Given the description of an element on the screen output the (x, y) to click on. 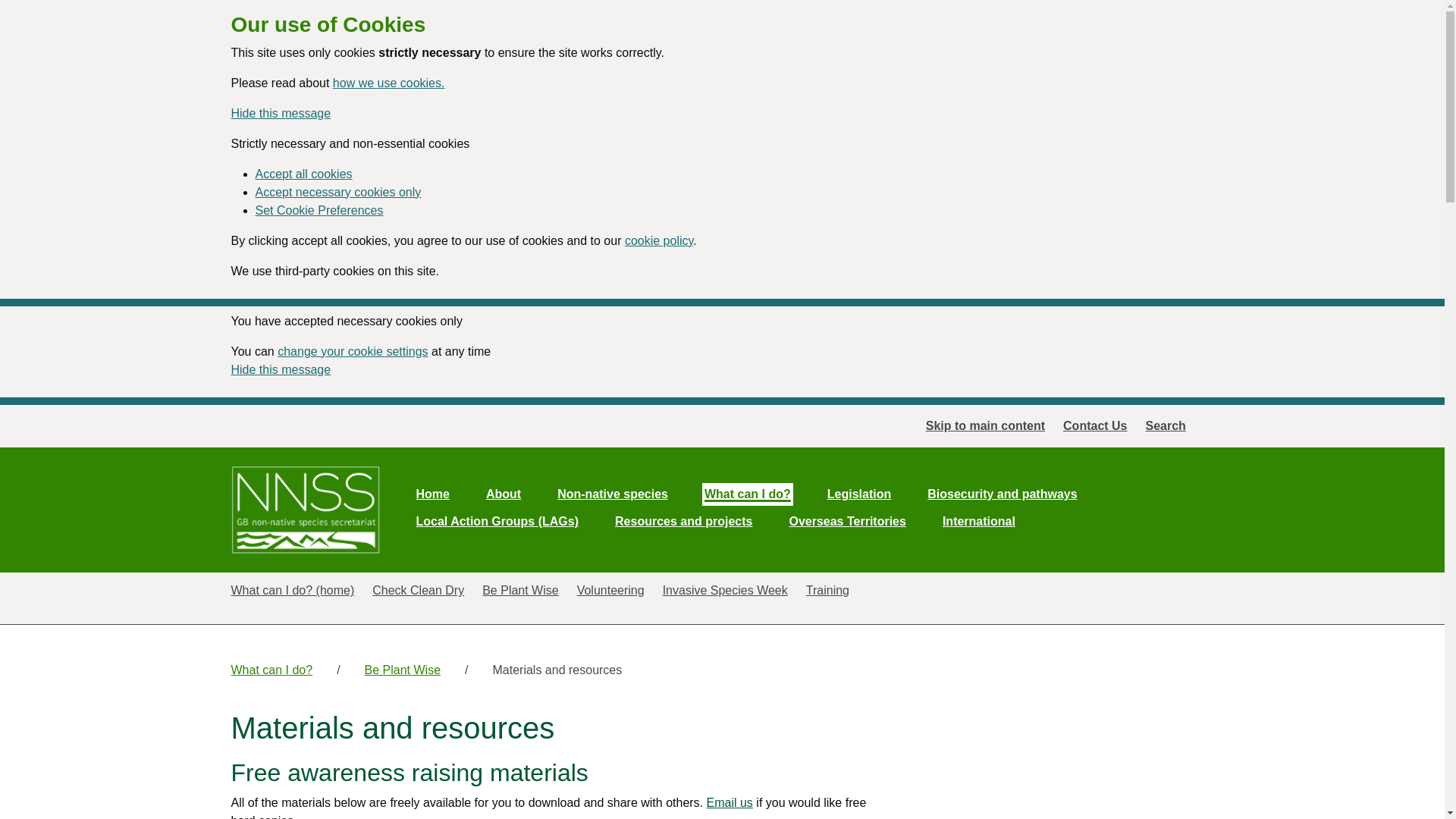
Hide this message (280, 113)
What can I do? (747, 494)
International (978, 521)
Accept necessary cookies only (337, 192)
Overseas Territories (847, 521)
Legislation (859, 494)
International  (978, 521)
Set Cookie Preferences (318, 210)
Overseas Territories (847, 521)
Check Clean Dry (418, 599)
